Given the description of an element on the screen output the (x, y) to click on. 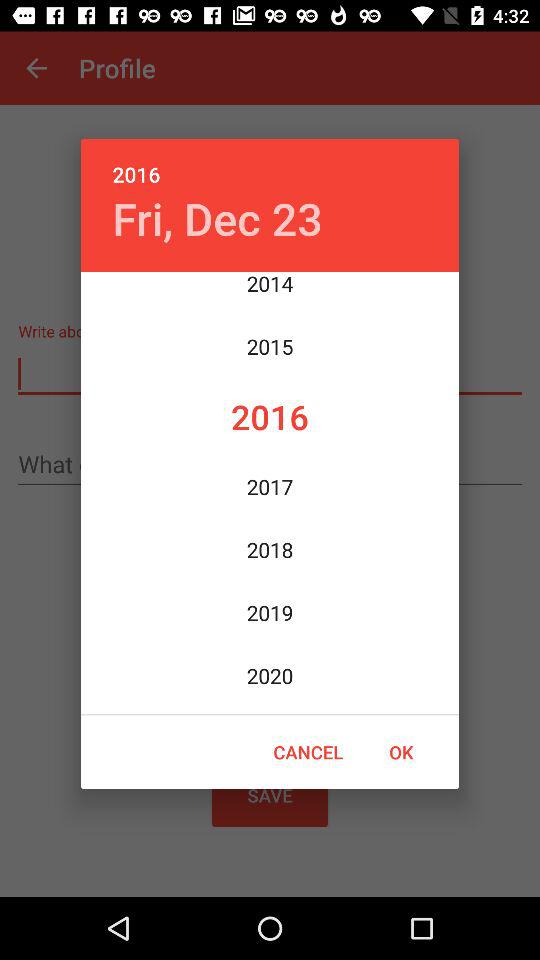
turn off item next to the cancel item (401, 751)
